Given the description of an element on the screen output the (x, y) to click on. 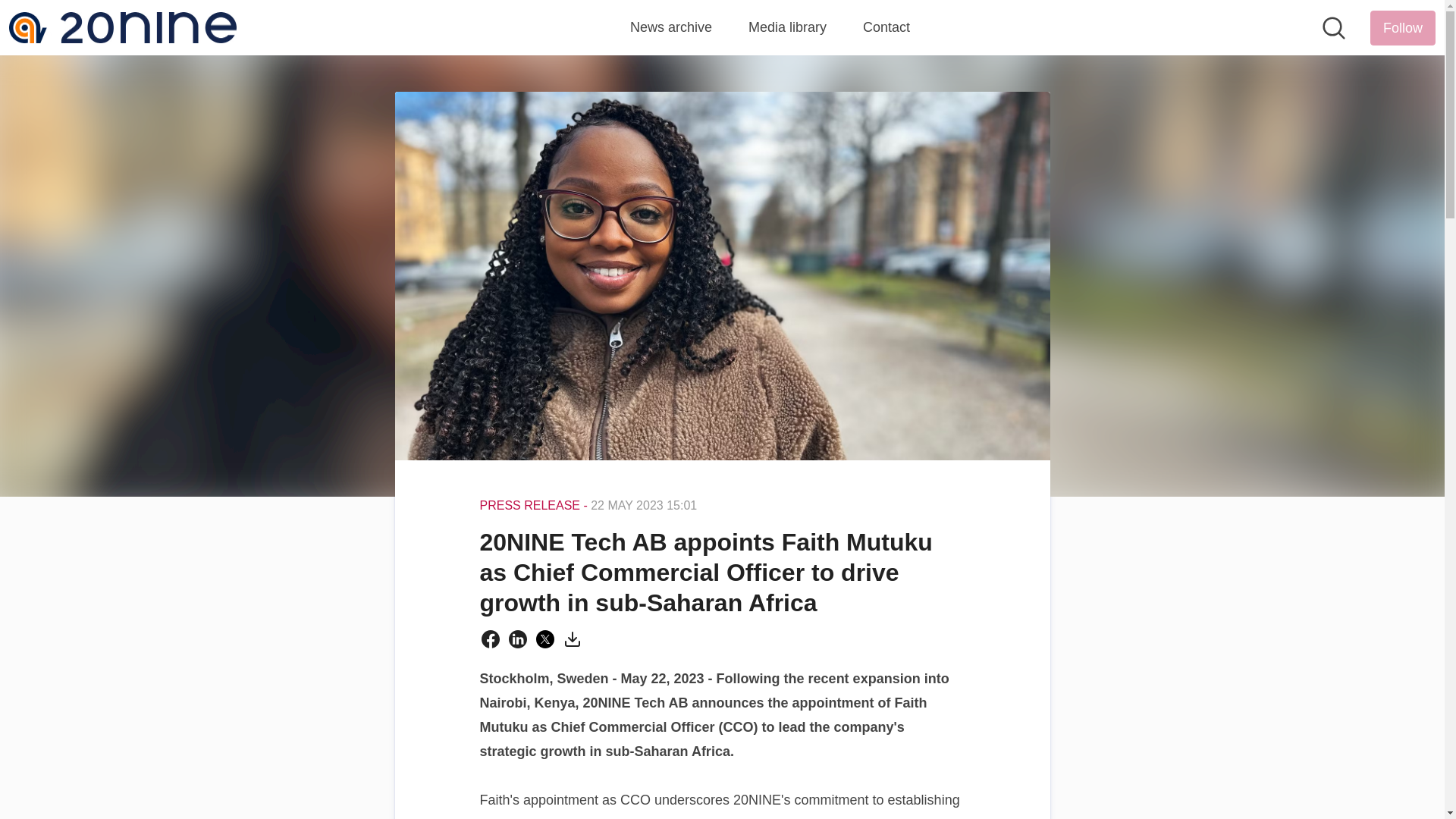
News archive (670, 27)
Download as PDF (571, 638)
Share on Linkedin (516, 638)
Share on Twitter (544, 638)
Share on Facebook (489, 638)
Follow (1402, 27)
Media library (787, 27)
Contact (886, 27)
Search in newsroom (1333, 27)
